Given the description of an element on the screen output the (x, y) to click on. 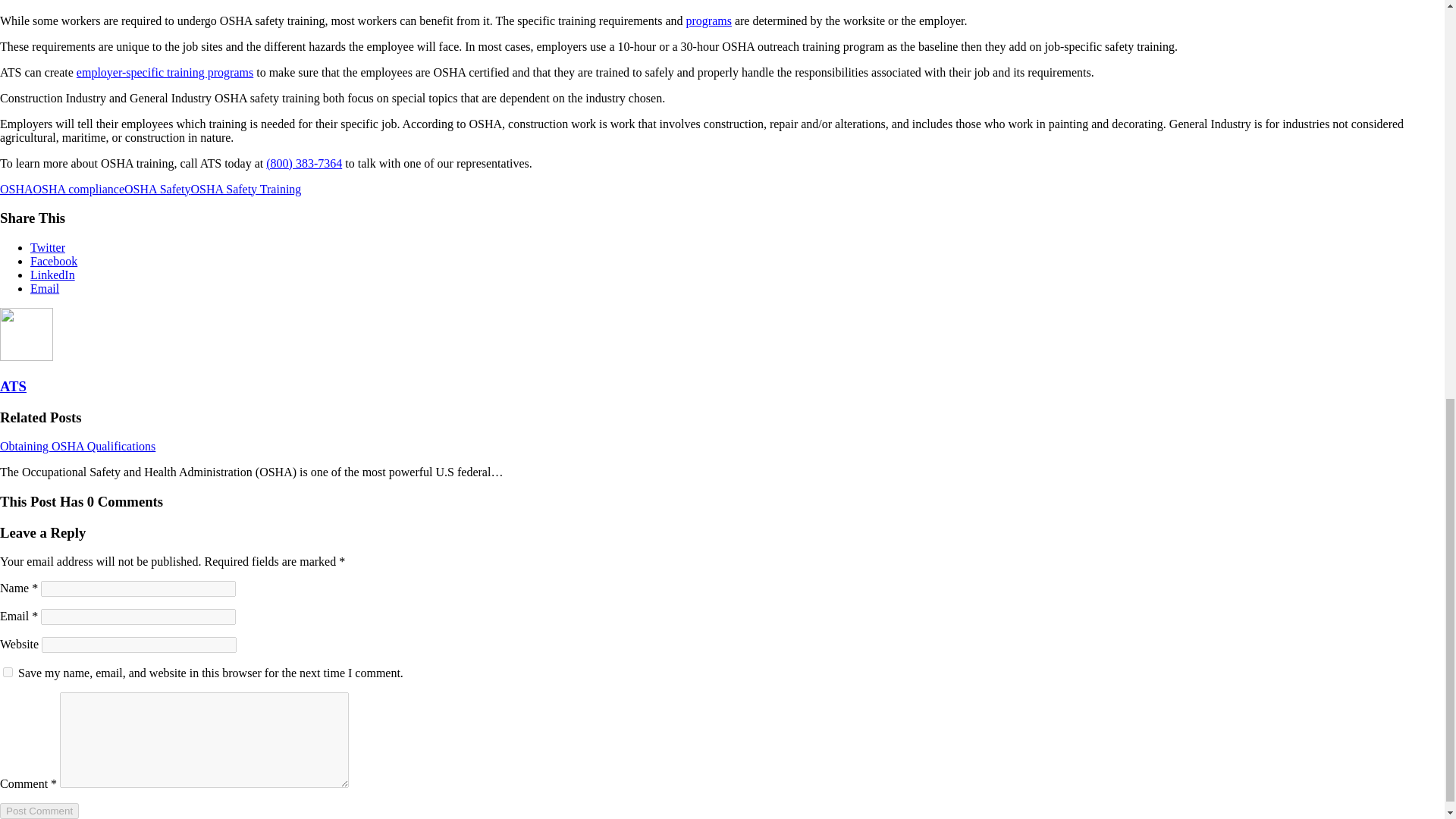
Visit Author Page (13, 385)
Visit Author Page (26, 356)
yes (7, 672)
